Given the description of an element on the screen output the (x, y) to click on. 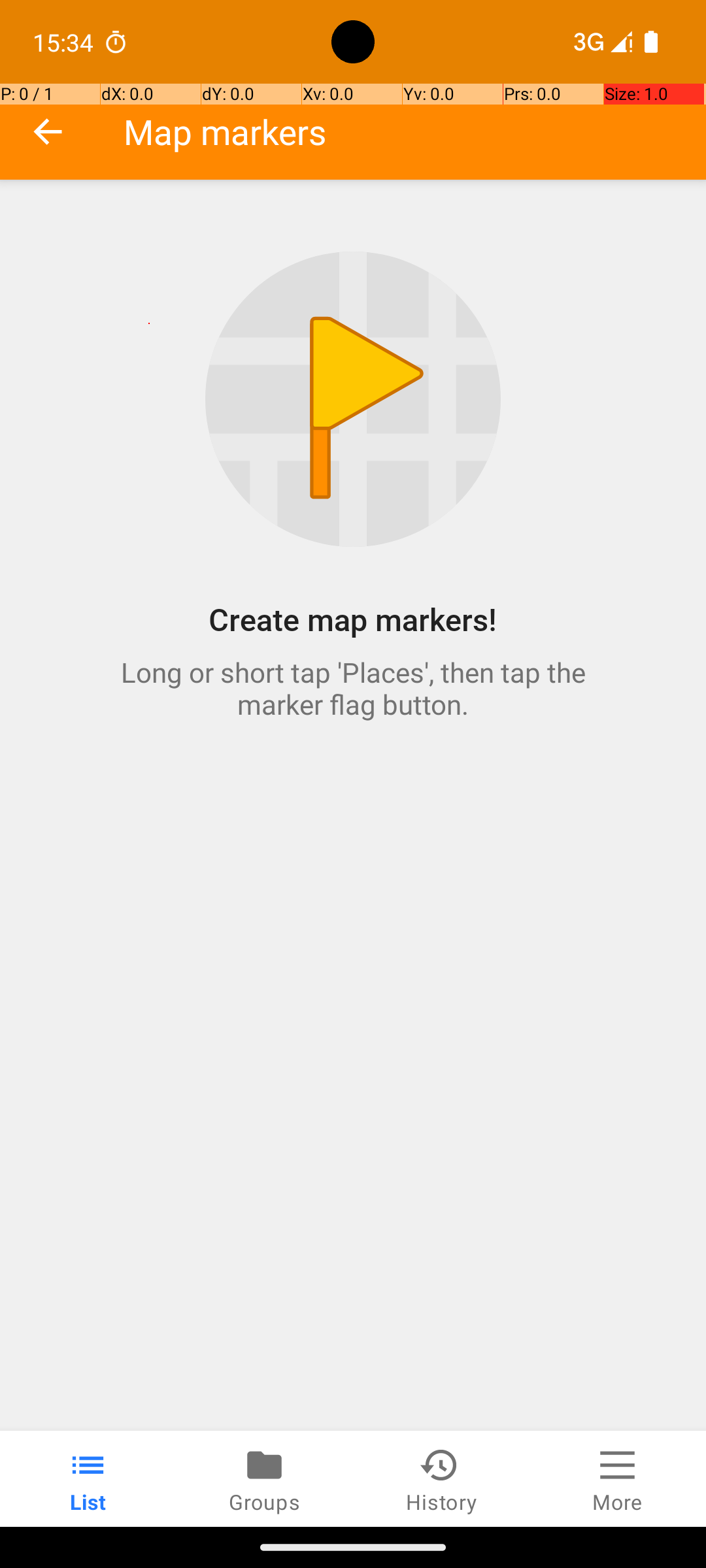
List Element type: android.widget.FrameLayout (88, 1478)
Groups Element type: android.widget.FrameLayout (264, 1478)
Create map markers! Element type: android.widget.TextView (352, 618)
Long or short tap 'Places', then tap the marker flag button. Element type: android.widget.TextView (352, 687)
